Given the description of an element on the screen output the (x, y) to click on. 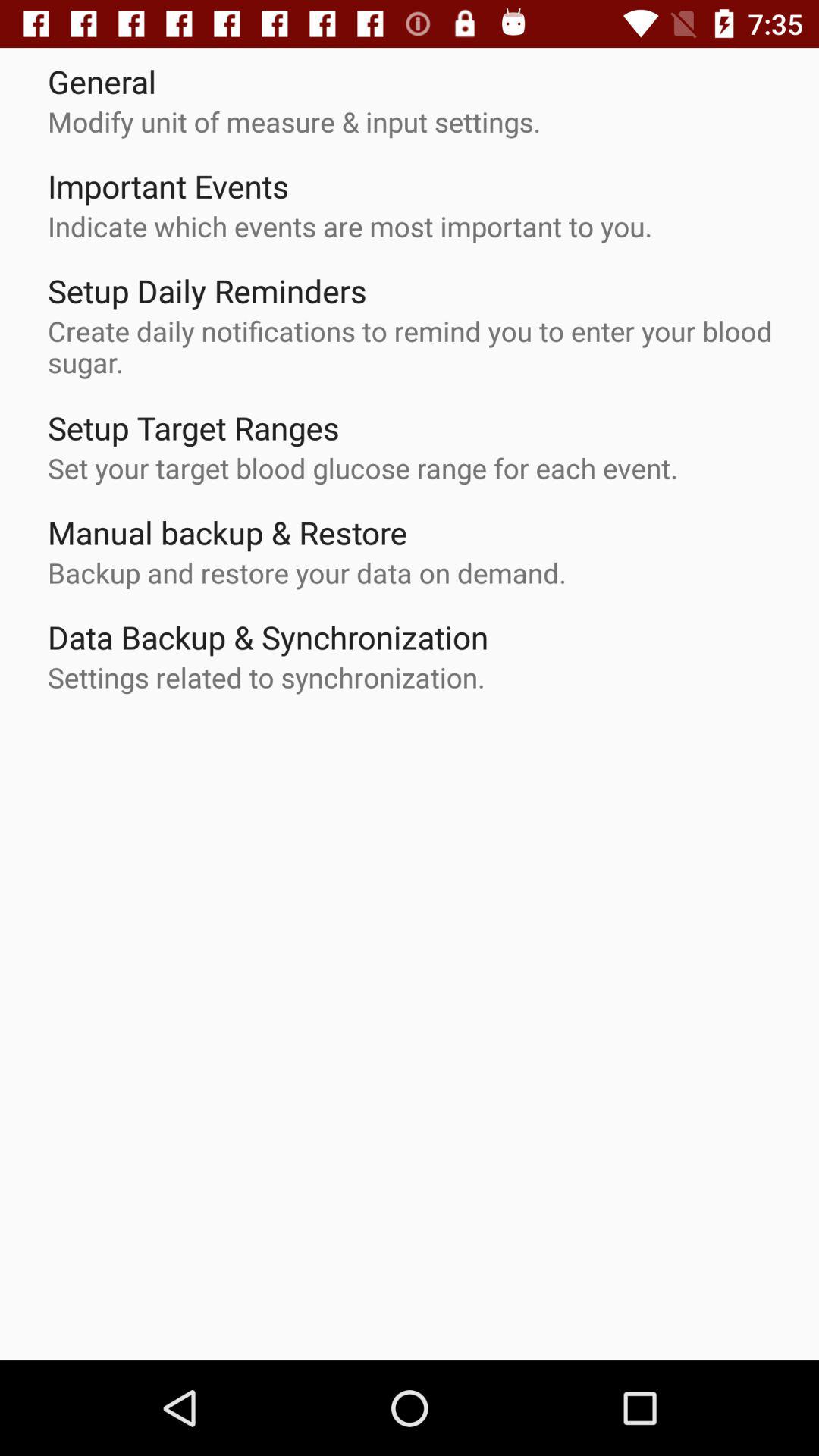
choose create daily notifications item (417, 347)
